Given the description of an element on the screen output the (x, y) to click on. 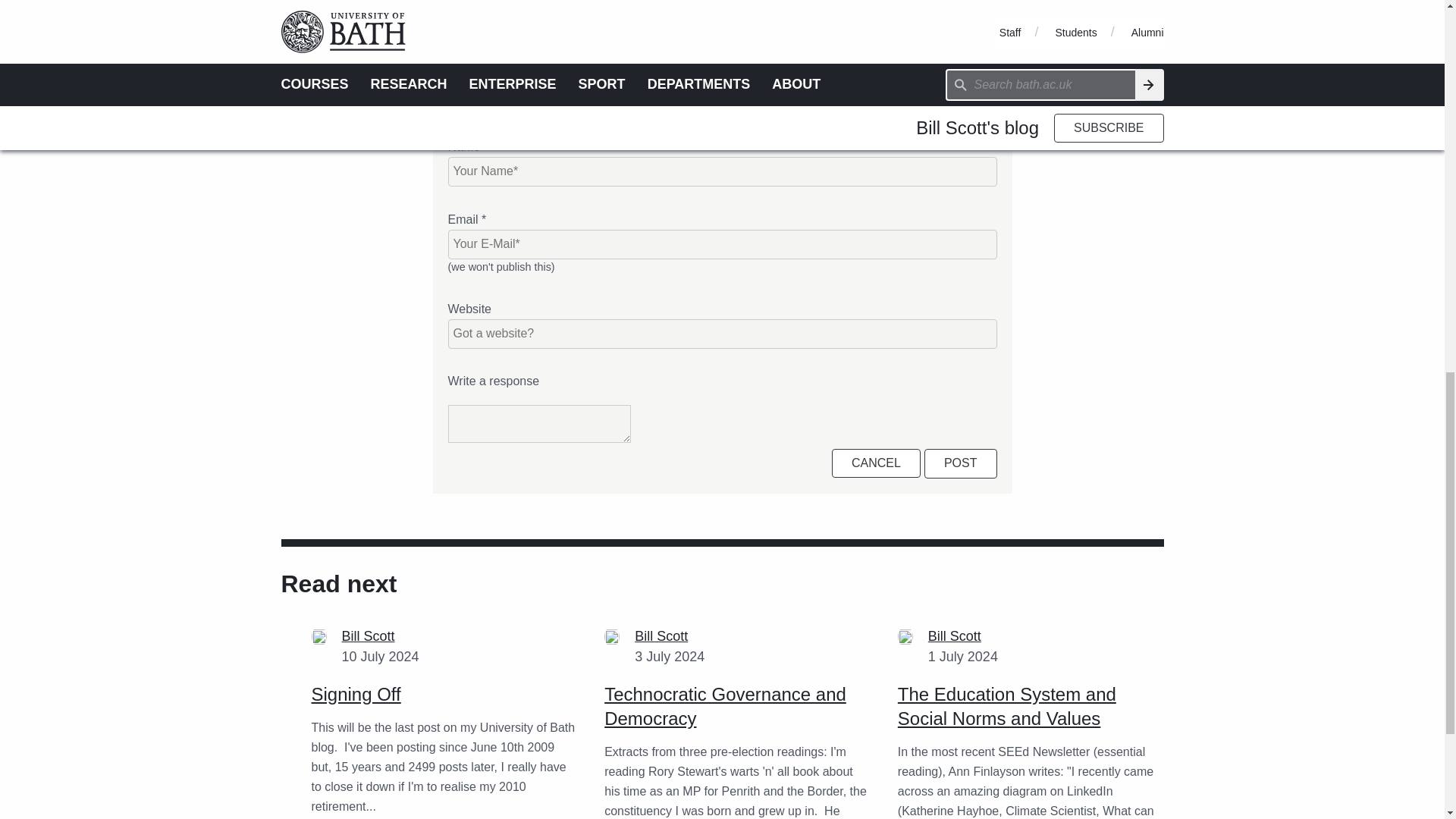
The Education System and Social Norms and Values (1007, 705)
Post (960, 463)
Signing Off (356, 693)
Comment (517, 5)
Bill Scott (954, 635)
The Education System and Social Norms and Values (1007, 705)
News and Updates (607, 5)
Technocratic Governance and Democracy (724, 705)
Bill Scott (368, 635)
Bill Scott (660, 635)
Signing Off (356, 693)
CANCEL (875, 462)
Post (960, 463)
Technocratic Governance and Democracy (724, 705)
